Given the description of an element on the screen output the (x, y) to click on. 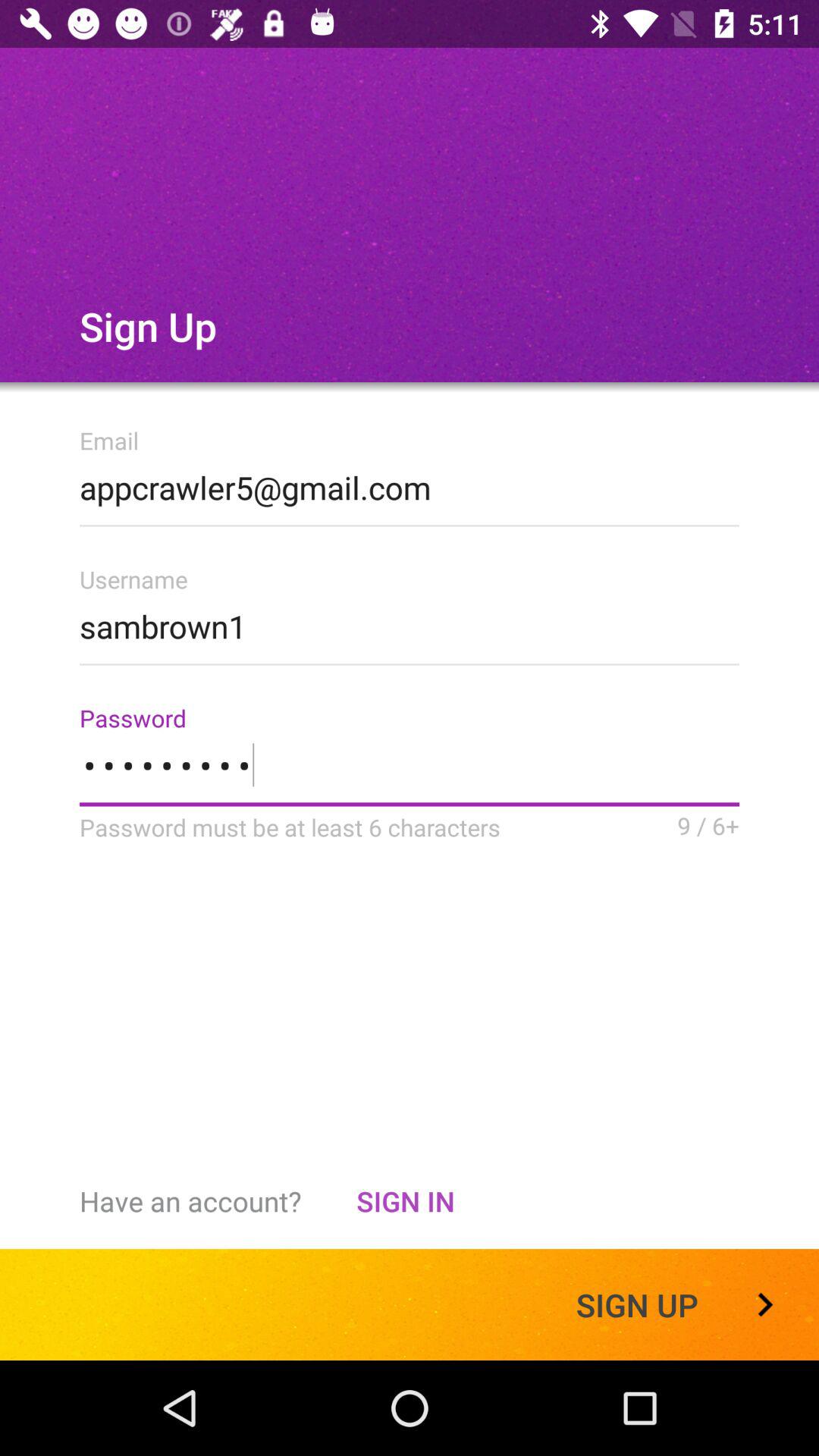
scroll to sign in item (405, 1200)
